Given the description of an element on the screen output the (x, y) to click on. 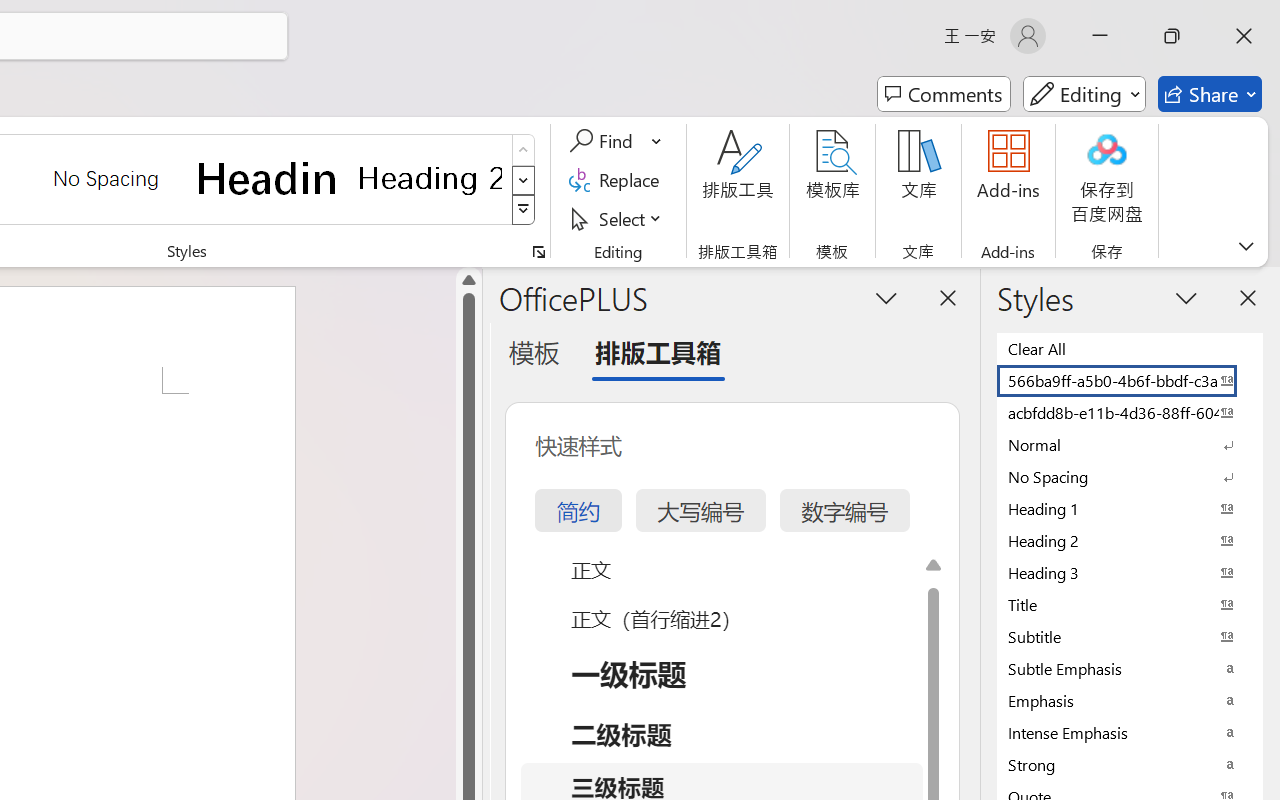
Comments (943, 94)
566ba9ff-a5b0-4b6f-bbdf-c3ab41993fc2 (1130, 380)
Task Pane Options (886, 297)
Intense Emphasis (1130, 732)
Select (618, 218)
Strong (1130, 764)
Mode (1083, 94)
Minimize (1099, 36)
Line up (468, 279)
Heading 2 (429, 178)
acbfdd8b-e11b-4d36-88ff-6049b138f862 (1130, 412)
